Given the description of an element on the screen output the (x, y) to click on. 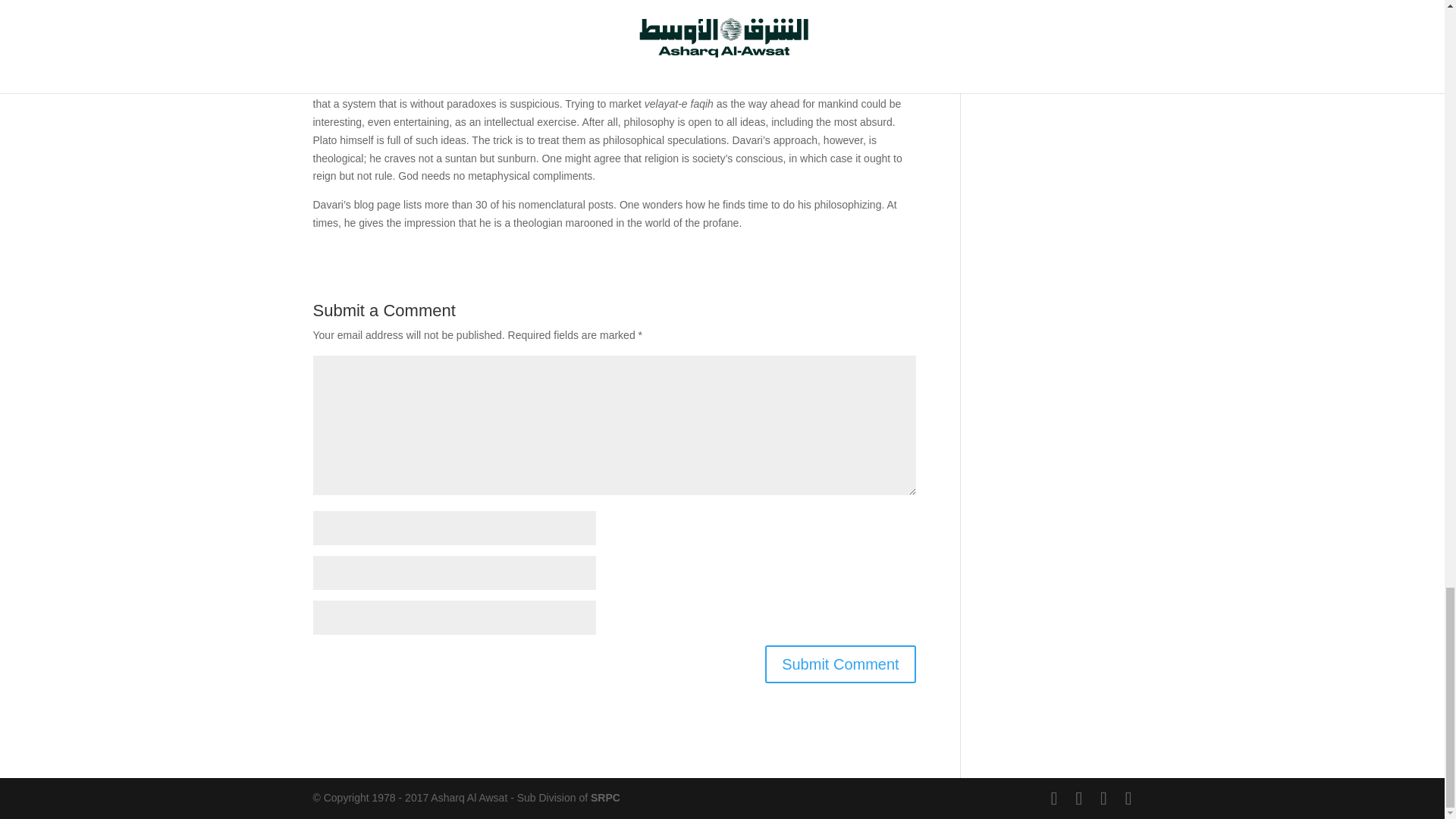
Submit Comment (840, 664)
Submit Comment (840, 664)
SRPC (605, 797)
